Given the description of an element on the screen output the (x, y) to click on. 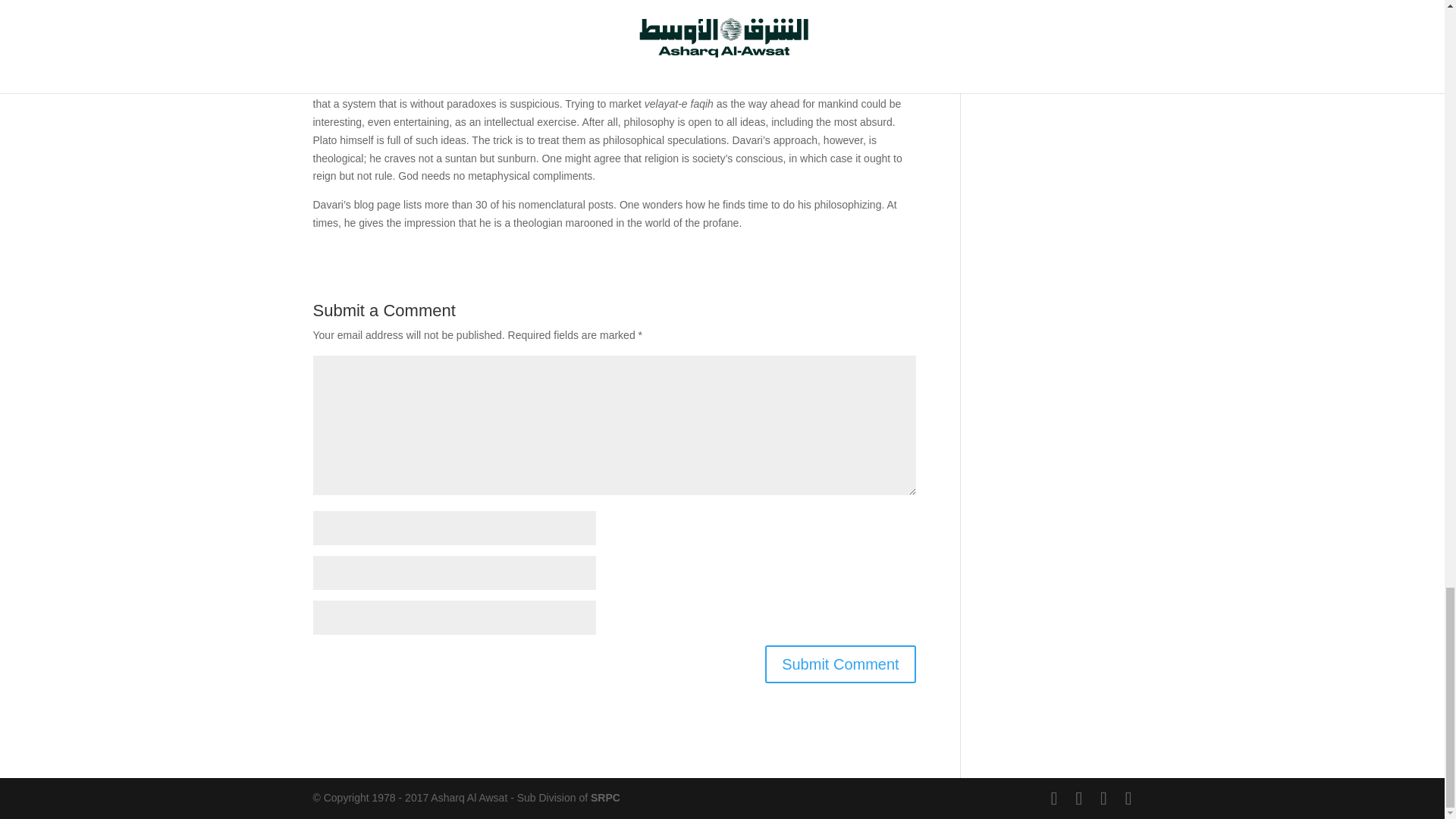
Submit Comment (840, 664)
Submit Comment (840, 664)
SRPC (605, 797)
